Given the description of an element on the screen output the (x, y) to click on. 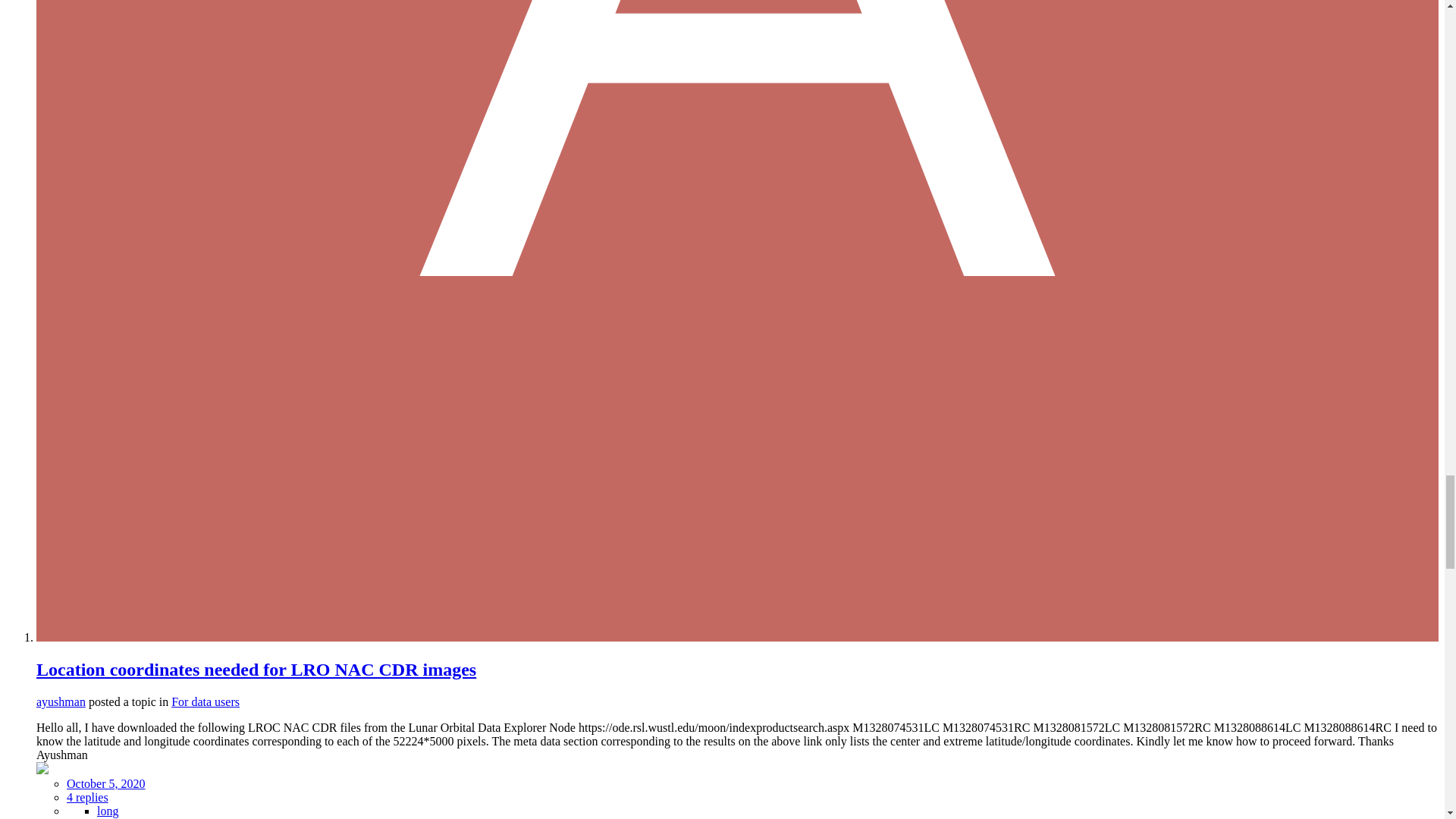
Find other content tagged with 'long' (107, 810)
Go to ayushman's profile (60, 701)
